Given the description of an element on the screen output the (x, y) to click on. 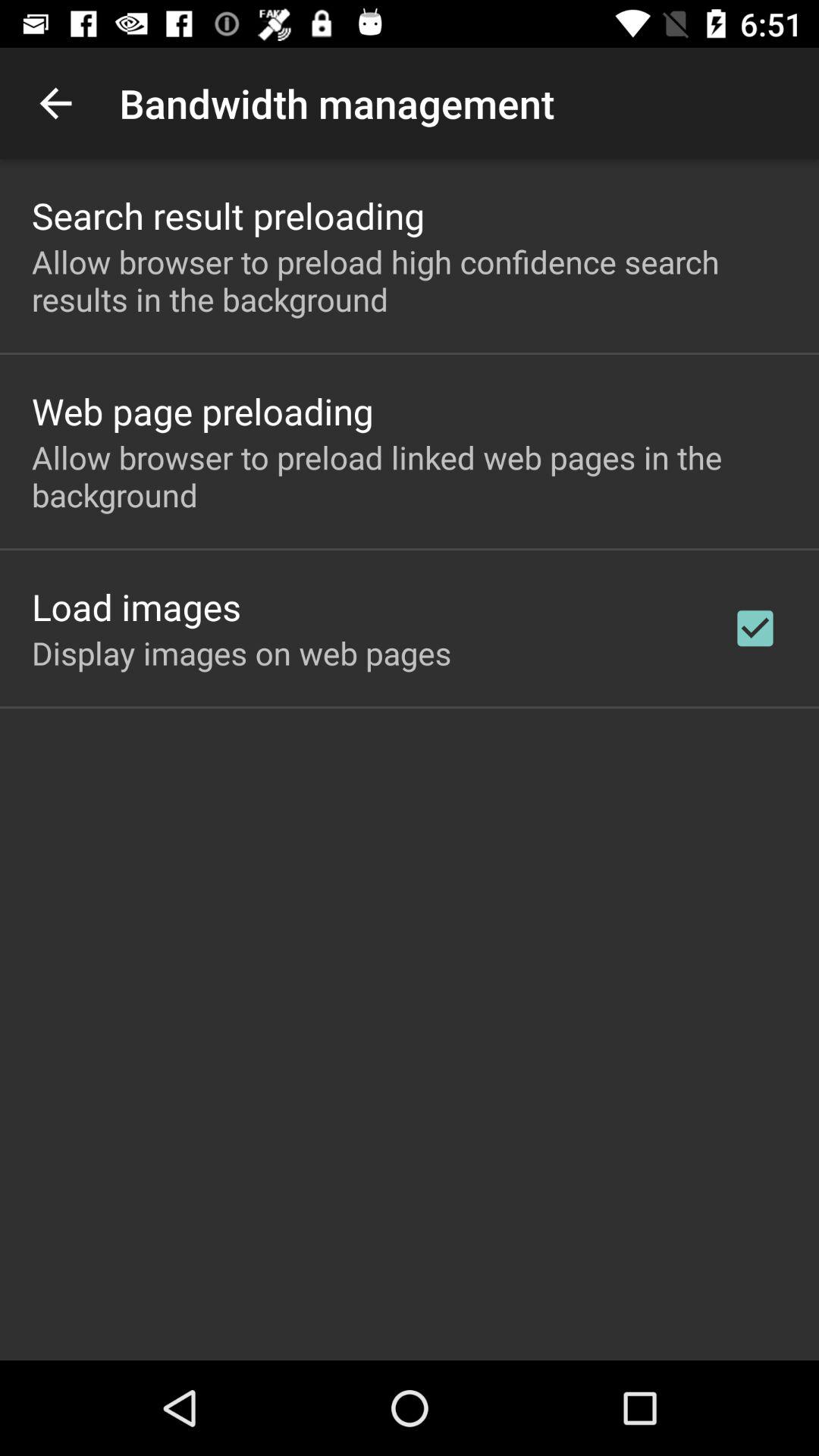
press the load images item (136, 606)
